Given the description of an element on the screen output the (x, y) to click on. 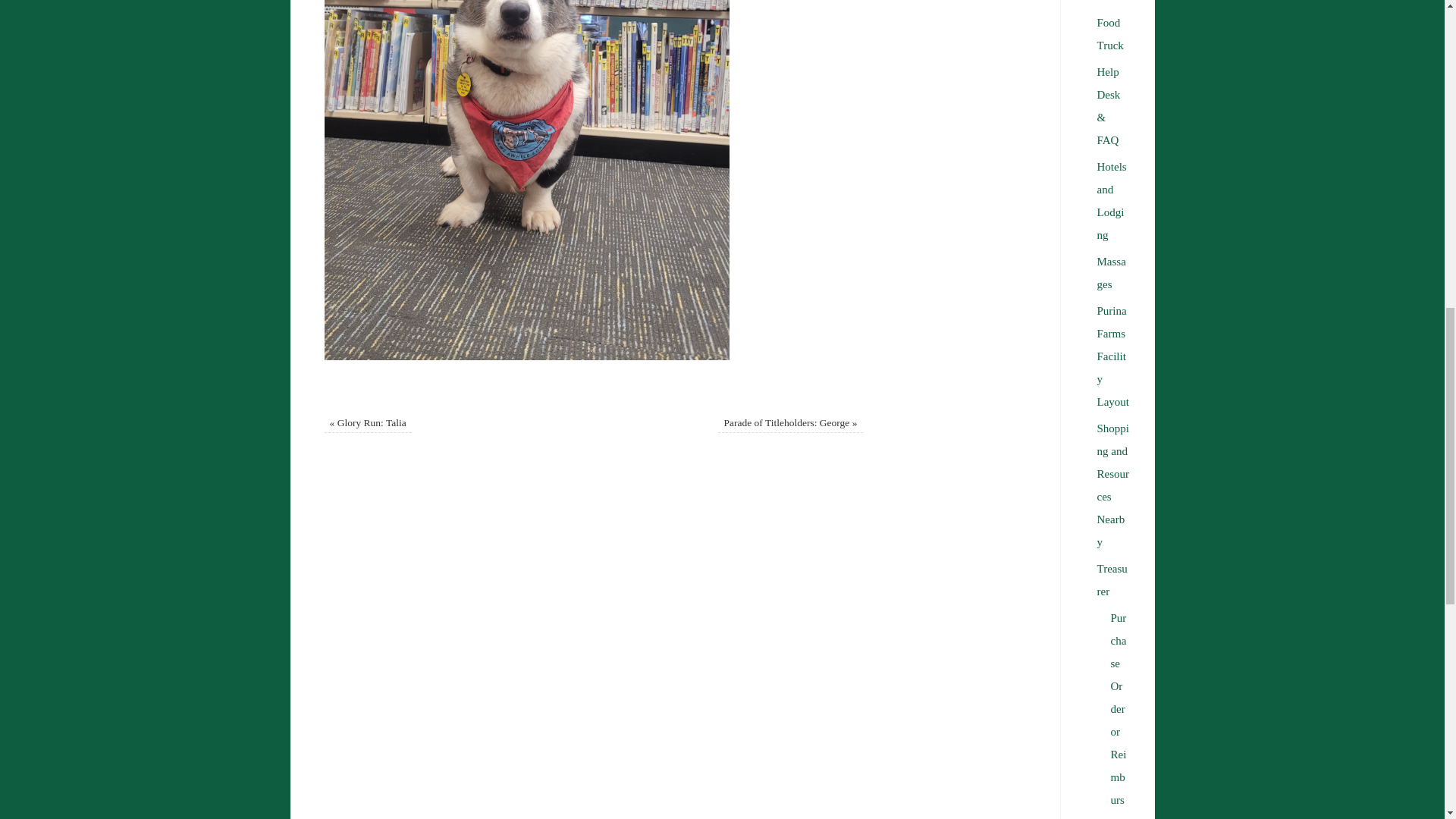
Emergency Info (1111, 1)
